Given the description of an element on the screen output the (x, y) to click on. 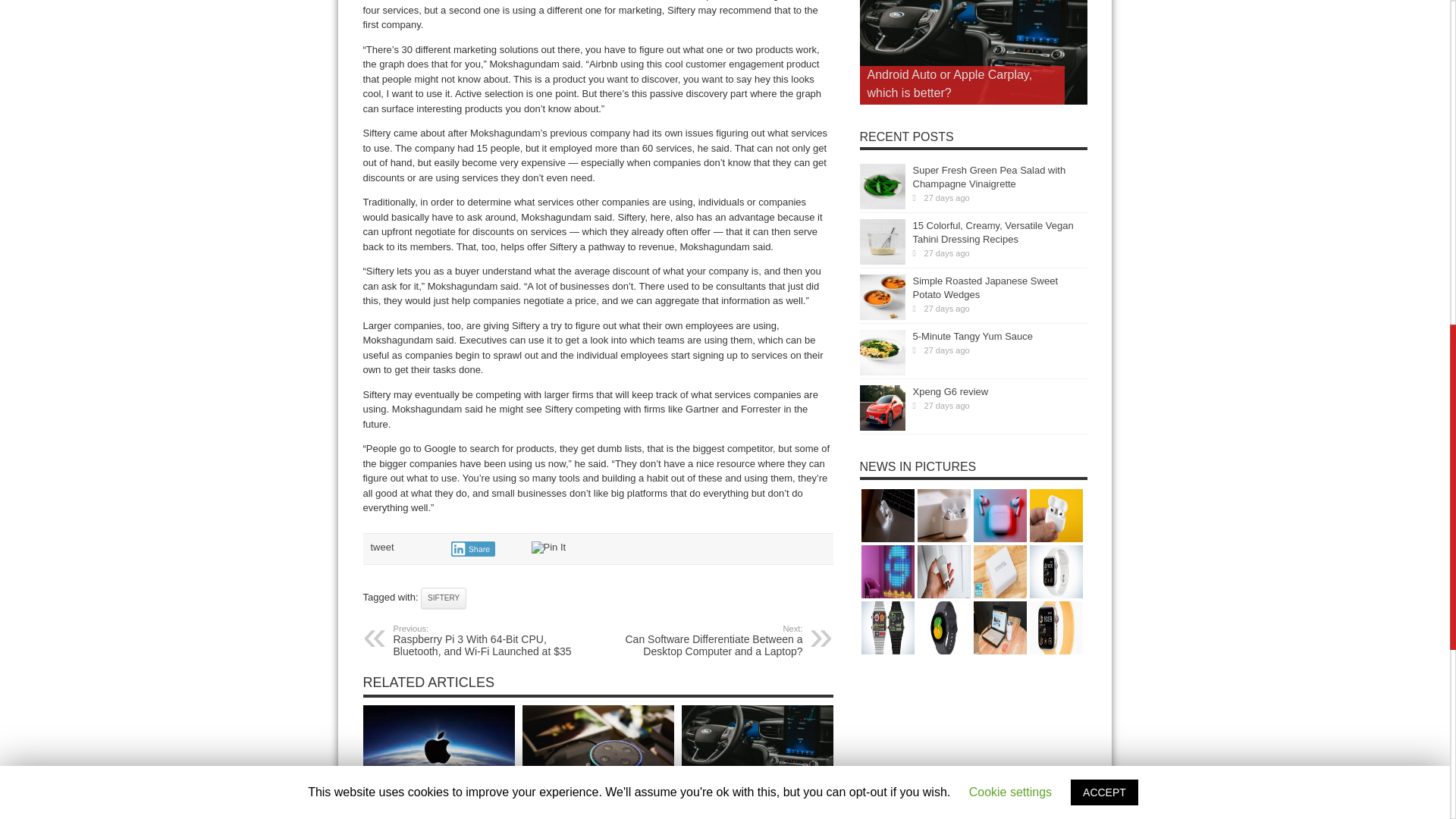
Share (472, 548)
tweet (381, 546)
